Given the description of an element on the screen output the (x, y) to click on. 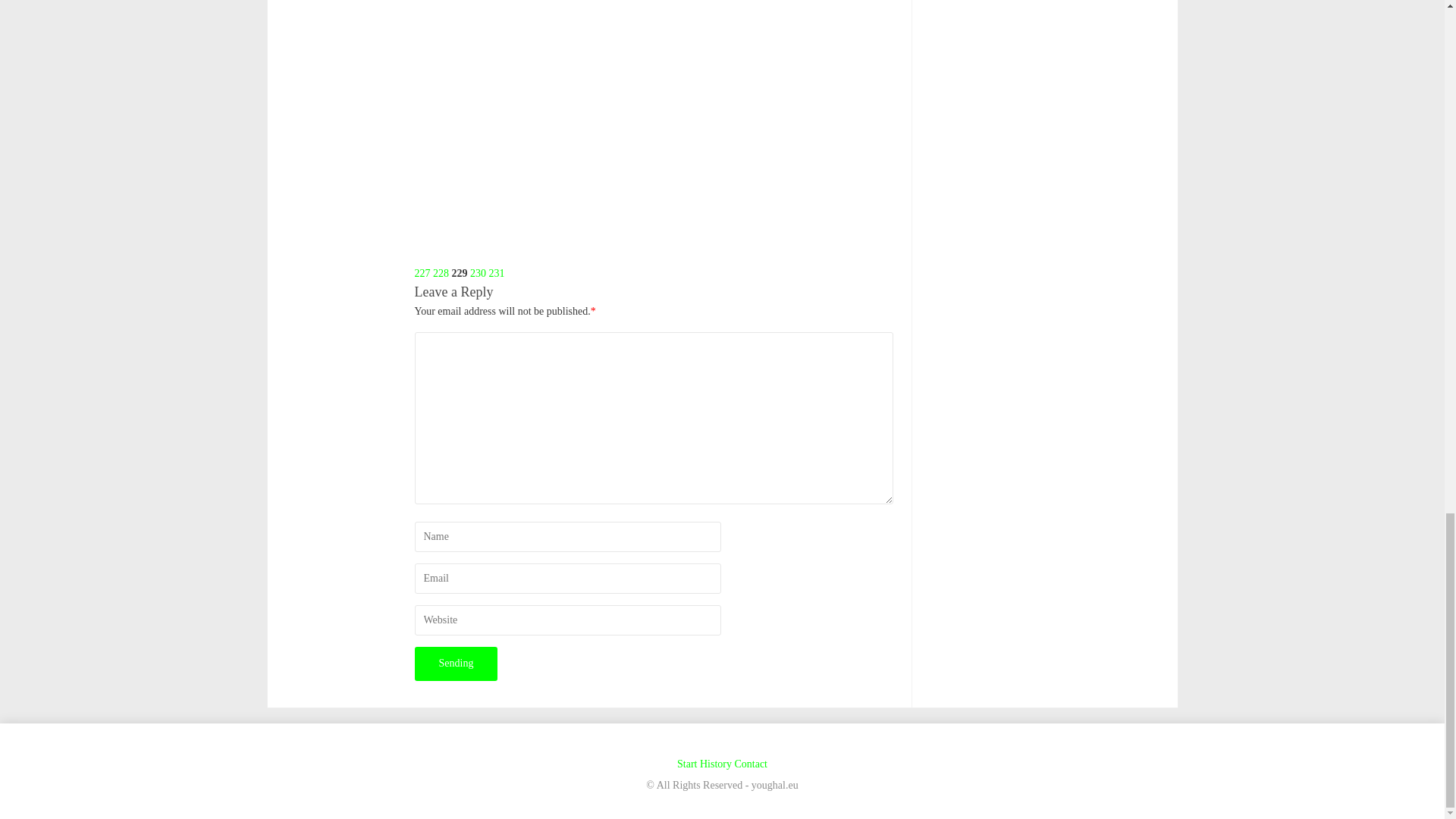
Contact (750, 763)
228 (440, 273)
Start (687, 763)
231 (495, 273)
Sending (455, 663)
History (716, 763)
227 (421, 273)
230 (478, 273)
Sending (455, 663)
